Given the description of an element on the screen output the (x, y) to click on. 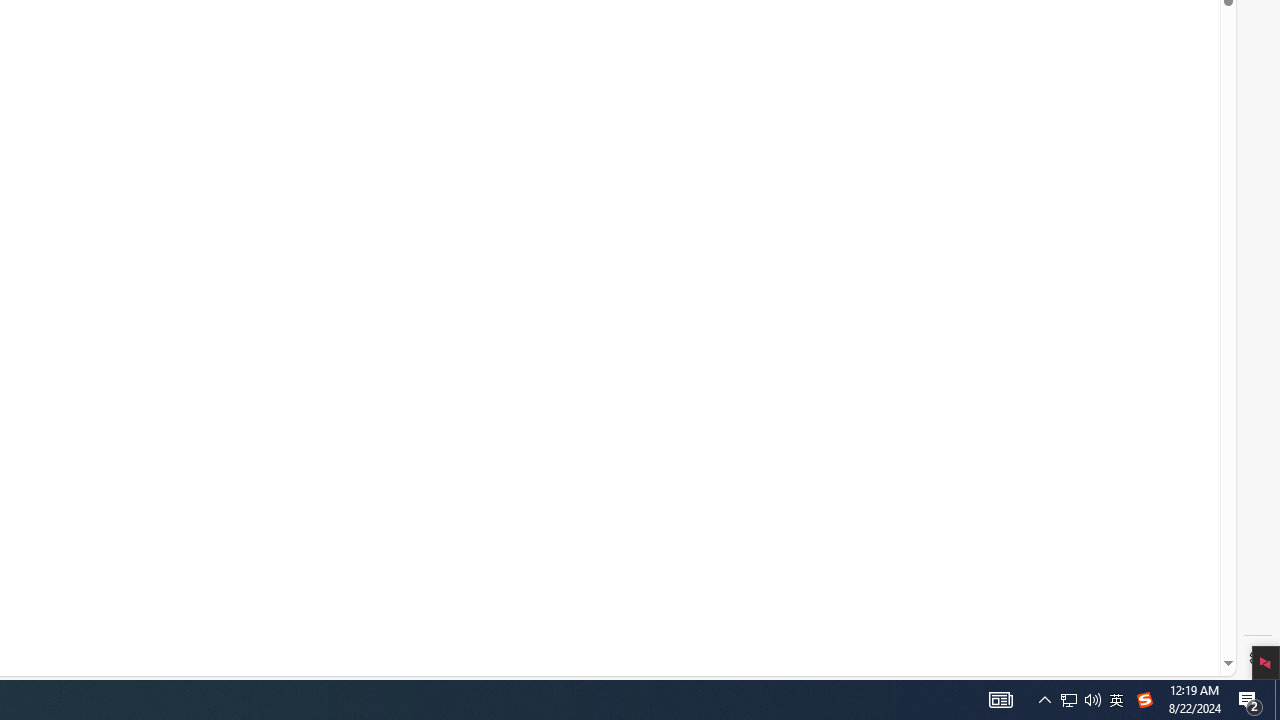
Settings (1258, 658)
